Given the description of an element on the screen output the (x, y) to click on. 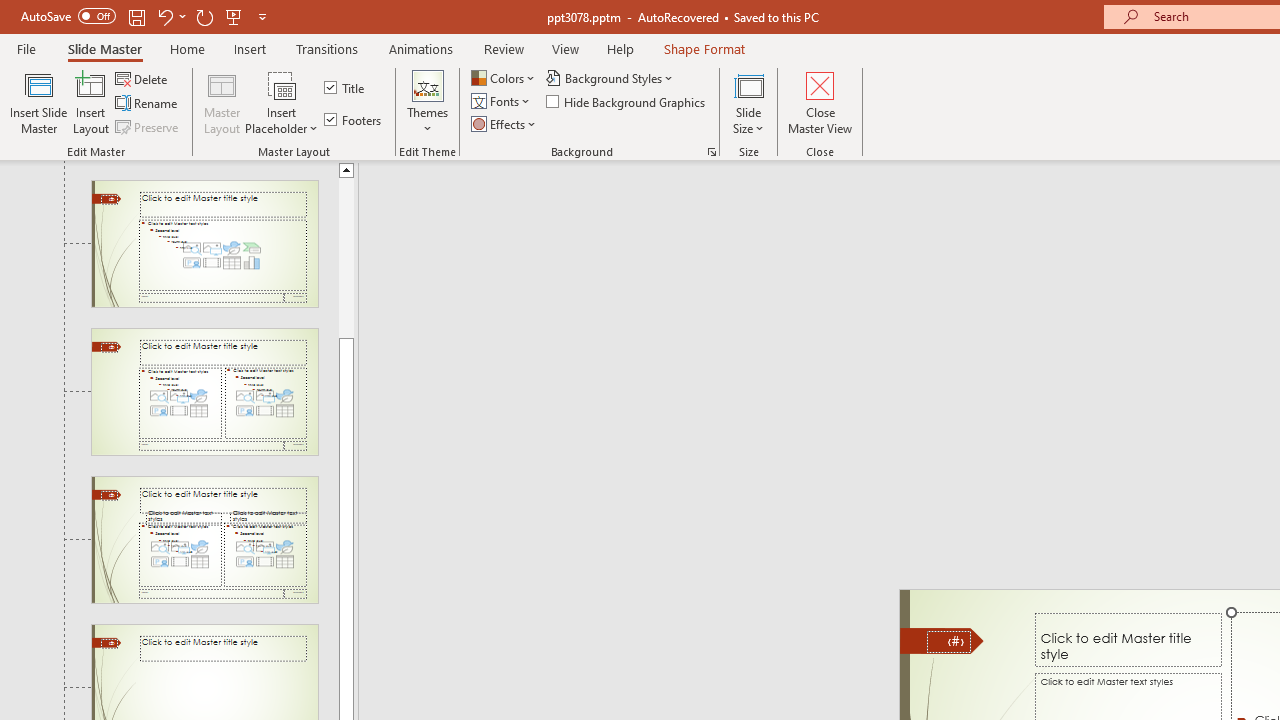
Themes (427, 102)
Rename (148, 103)
Insert Slide Master (38, 102)
Effects (505, 124)
Preserve (148, 126)
Title TextBox (1128, 639)
Title (346, 87)
Slide Comparison Layout: used by no slides (204, 539)
Slide Size (749, 102)
